Given the description of an element on the screen output the (x, y) to click on. 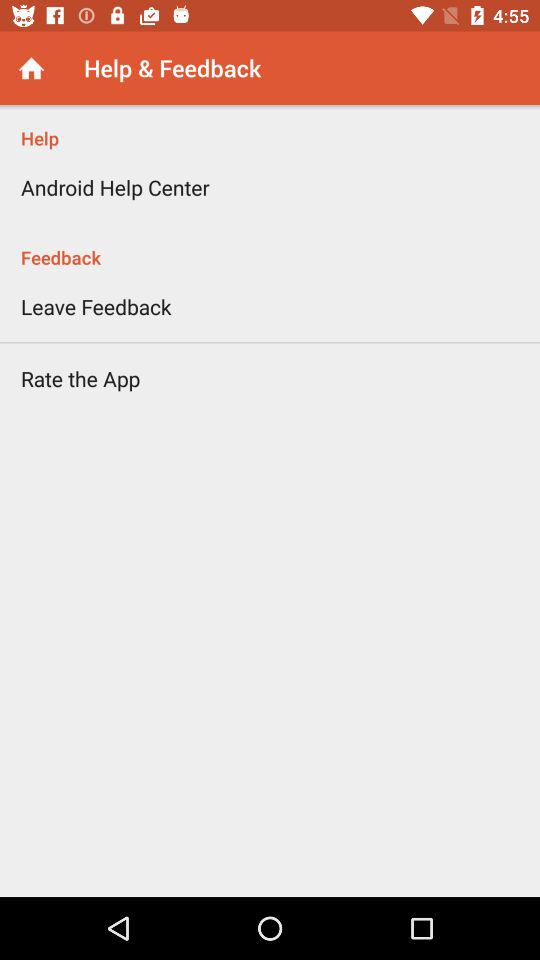
turn off android help center (115, 187)
